Given the description of an element on the screen output the (x, y) to click on. 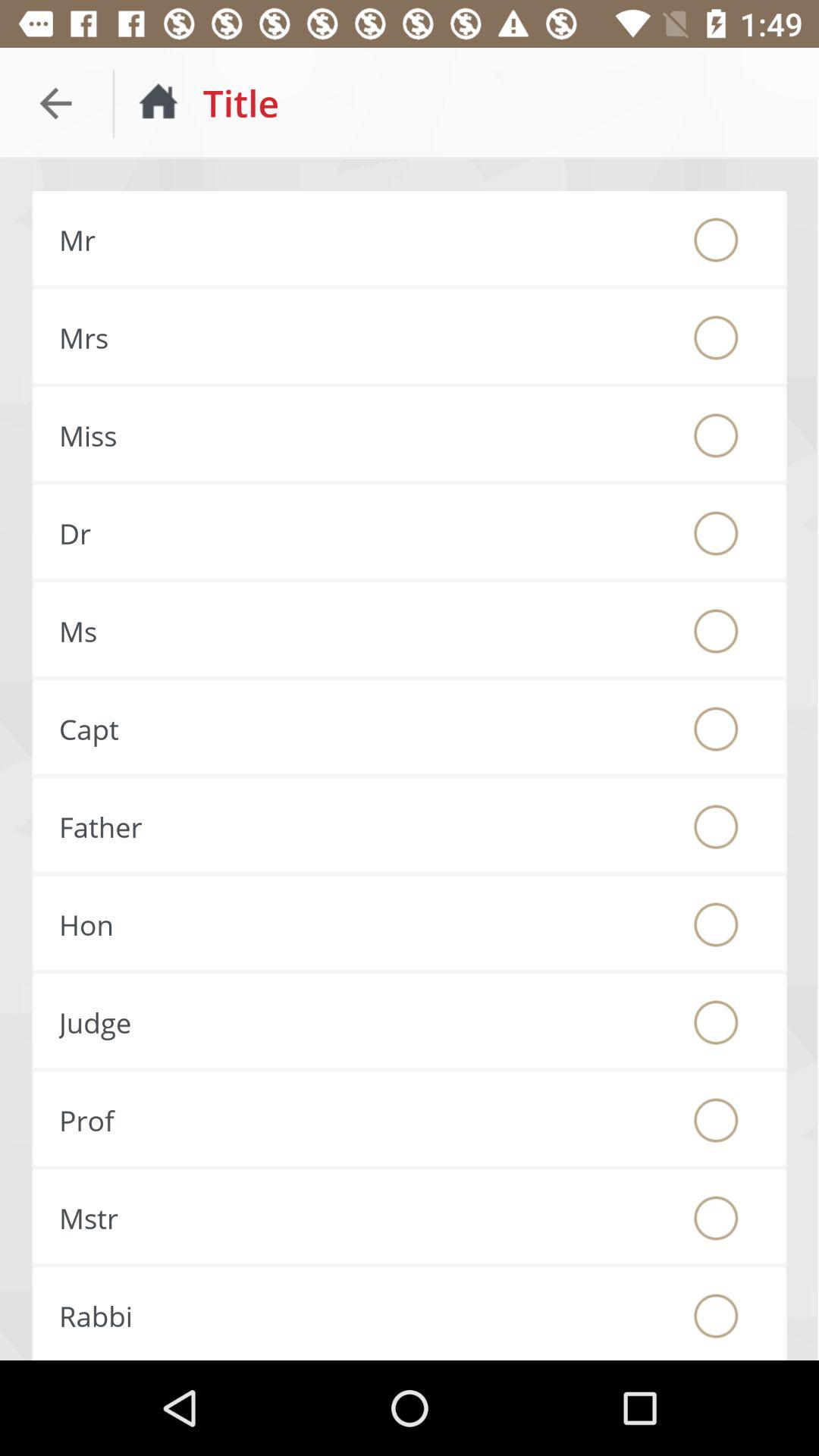
select title (715, 1022)
